Given the description of an element on the screen output the (x, y) to click on. 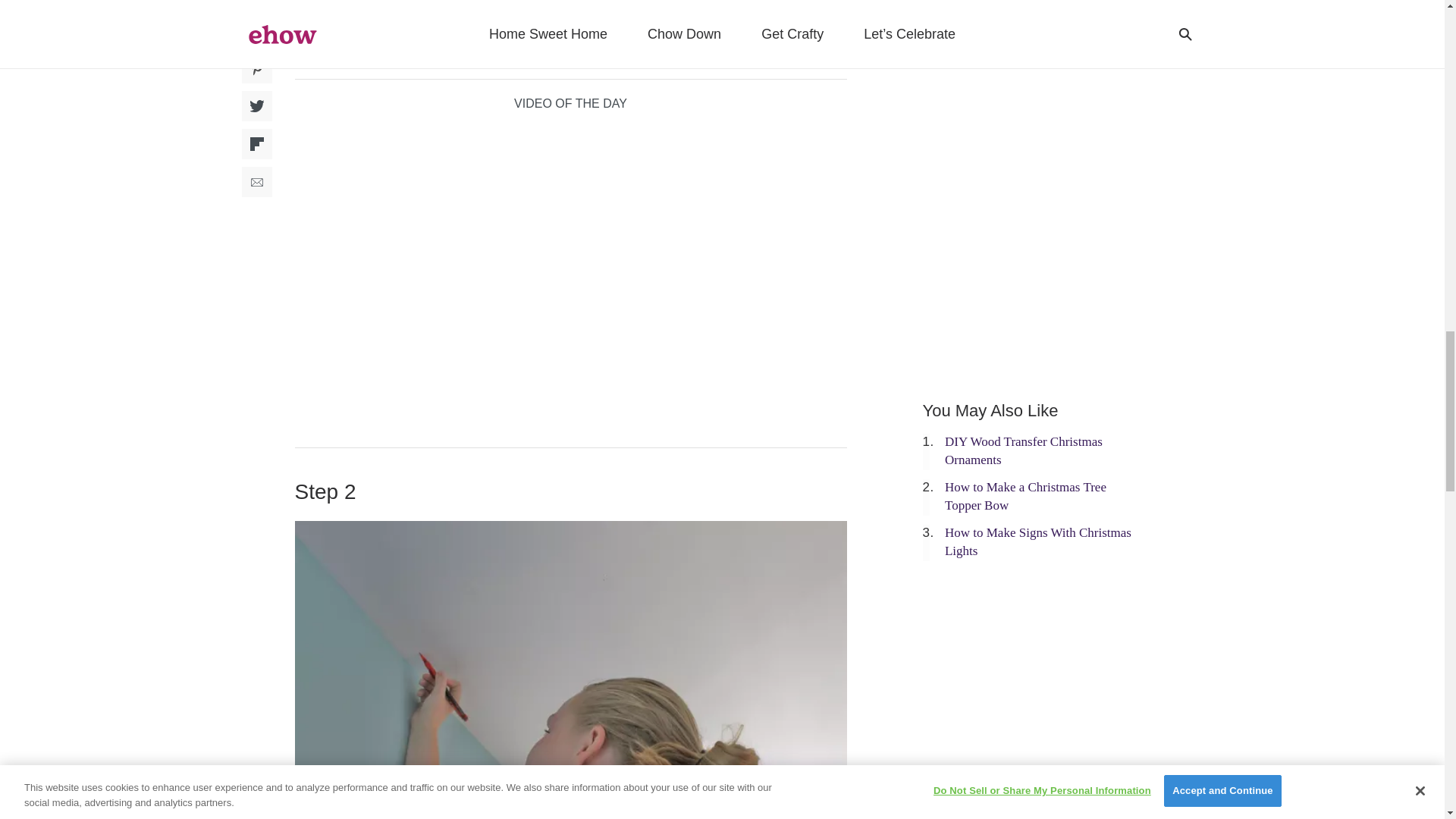
How to Make Signs With Christmas Lights (1037, 541)
How to Make a Christmas Tree Topper Bow (1025, 495)
3rd party ad content (1035, 56)
DIY Wood Transfer Christmas Ornaments (1023, 450)
